Given the description of an element on the screen output the (x, y) to click on. 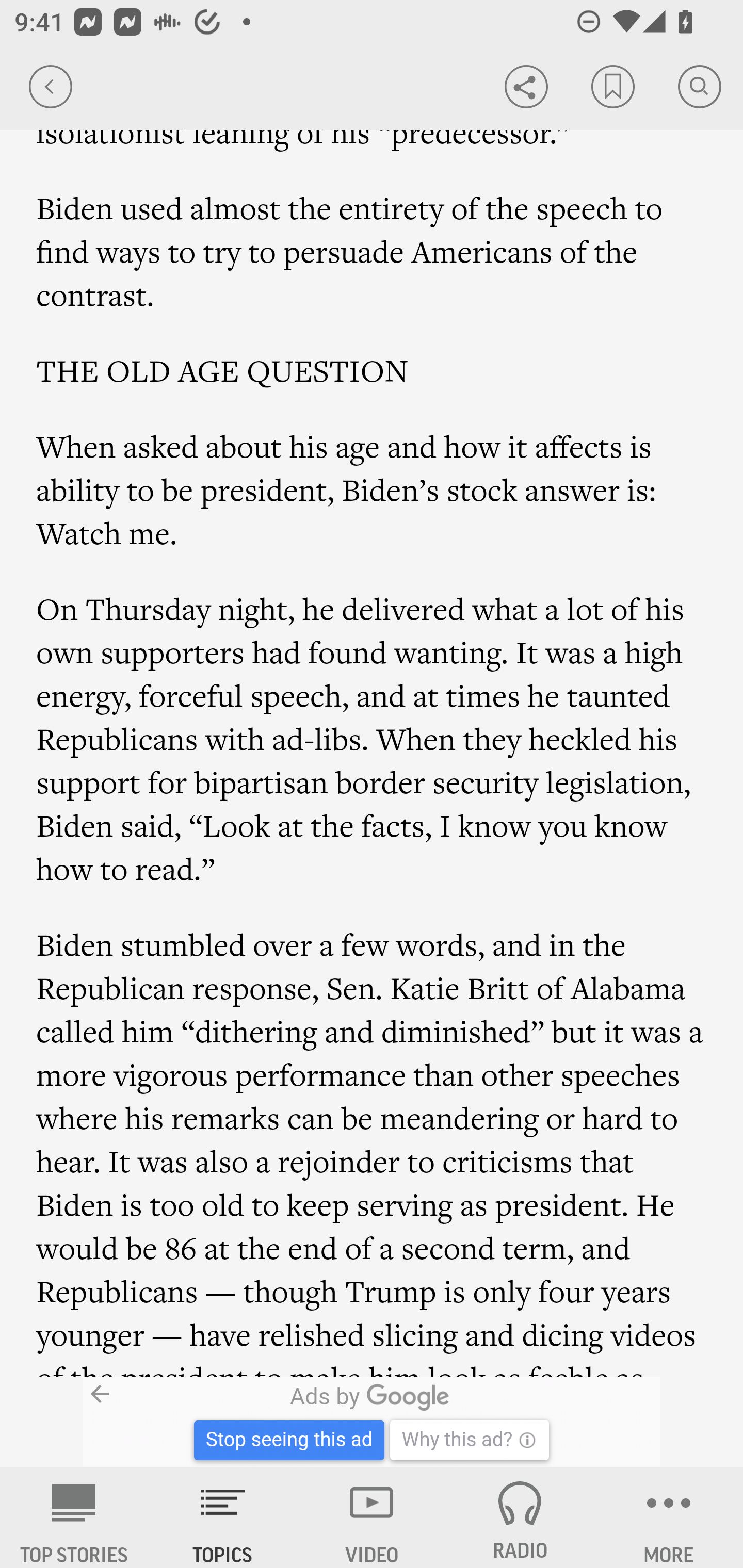
B30001746 (168, 1421)
AP News TOP STORIES (74, 1517)
TOPICS (222, 1517)
VIDEO (371, 1517)
RADIO (519, 1517)
MORE (668, 1517)
